Given the description of an element on the screen output the (x, y) to click on. 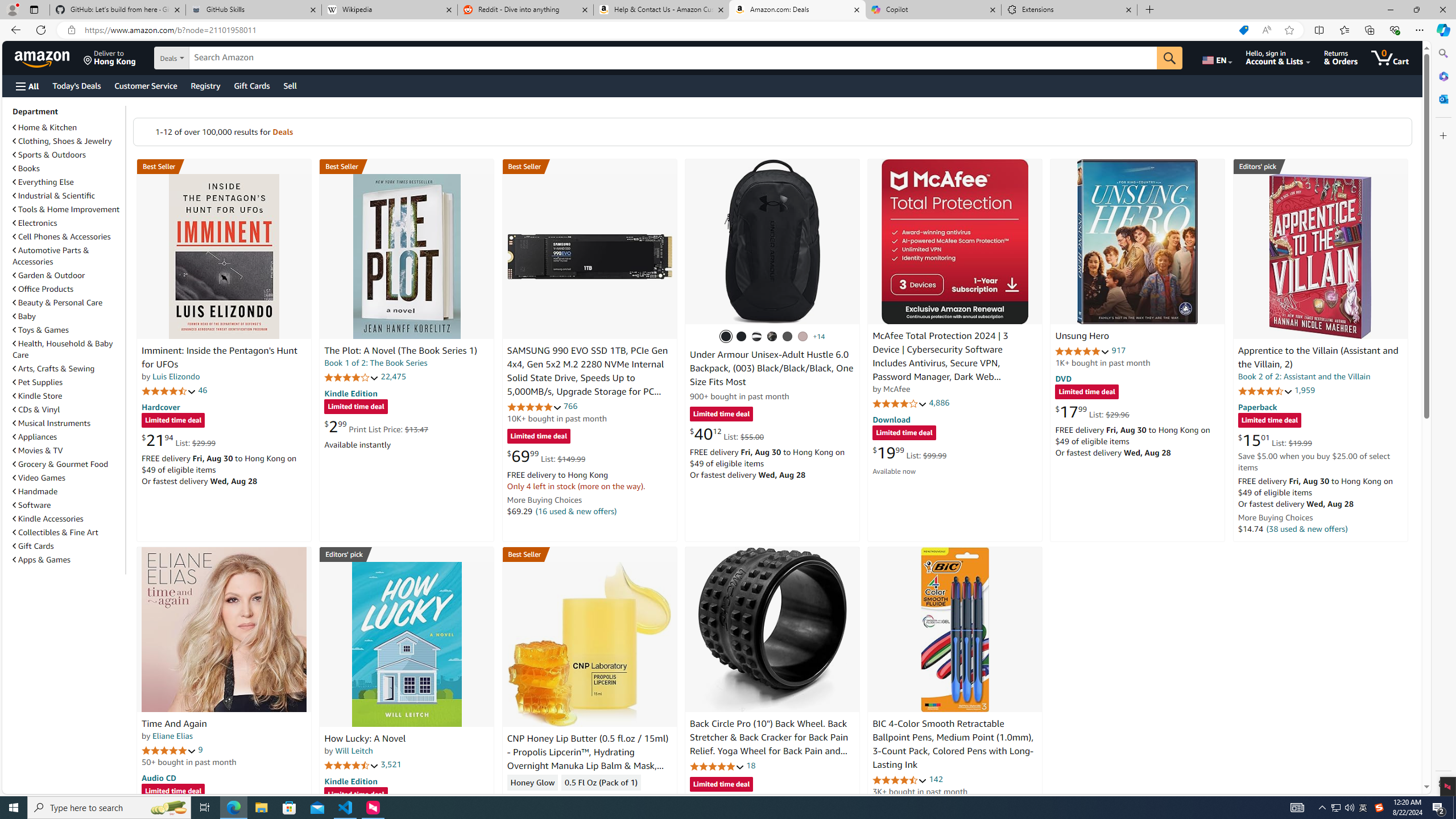
0 items in cart (1389, 57)
Unsung Hero (1137, 241)
Toys & Games (40, 329)
Apps & Games (67, 559)
(005) Black Full Heather / Black / Metallic Gold (788, 336)
Choose a language for shopping. (1216, 57)
Garden & Outdoor (67, 274)
Kindle Accessories (67, 518)
